Given the description of an element on the screen output the (x, y) to click on. 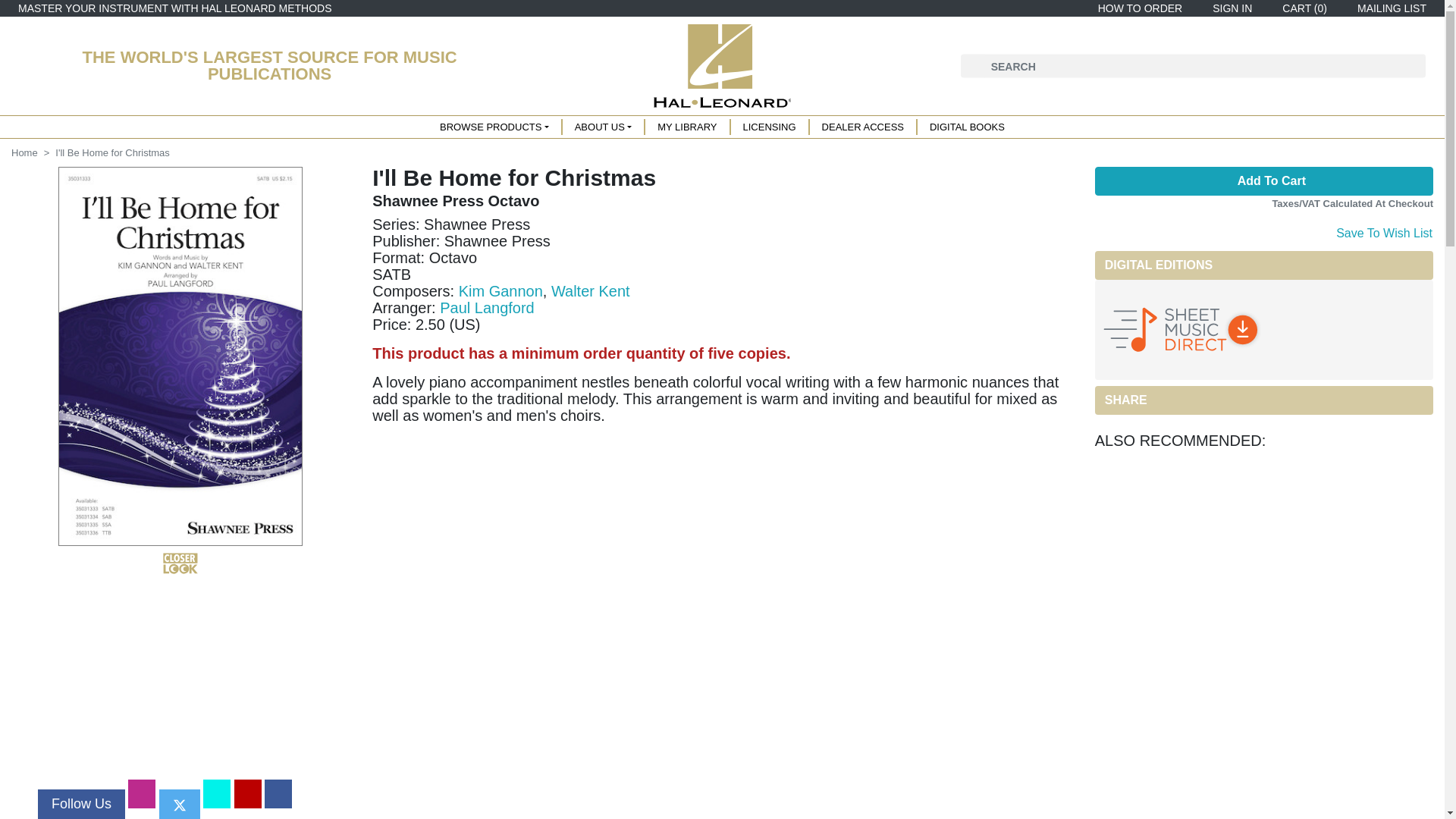
Closer Look (180, 563)
Add to Cart (1263, 181)
Add to Wish List (1383, 231)
MASTER YOUR INSTRUMENT WITH HAL LEONARD METHODS (174, 8)
HOW TO ORDER (1137, 8)
SIGN IN (1229, 8)
MAILING LIST (1388, 8)
